Given the description of an element on the screen output the (x, y) to click on. 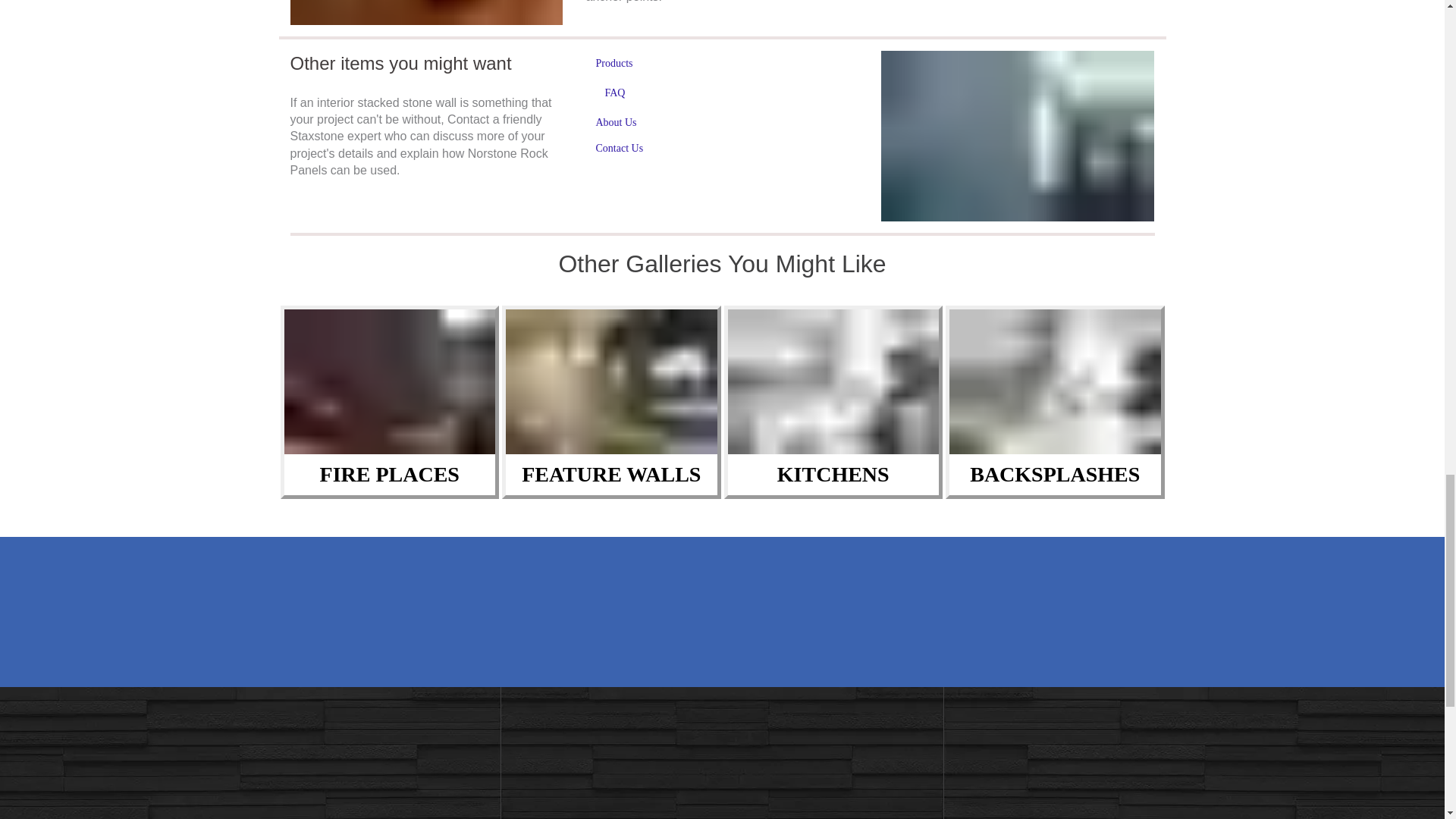
Staxstone Natural Stone Veneer - Feature Wall (1017, 135)
Staxstone Natural Stone Veneer - Feature Wall (425, 12)
Staxstone Natural Stone Veneer - Gallery Backsplashes (1054, 381)
Staxstone Natural Stone Veneer - Gallery Fireplaces (389, 381)
Staxstone Natural Stone Veneer - Gallery Feature Walls (611, 381)
Products (613, 63)
Staxstone Natural Stone Veneer - Gallery Kitchens (833, 381)
